Given the description of an element on the screen output the (x, y) to click on. 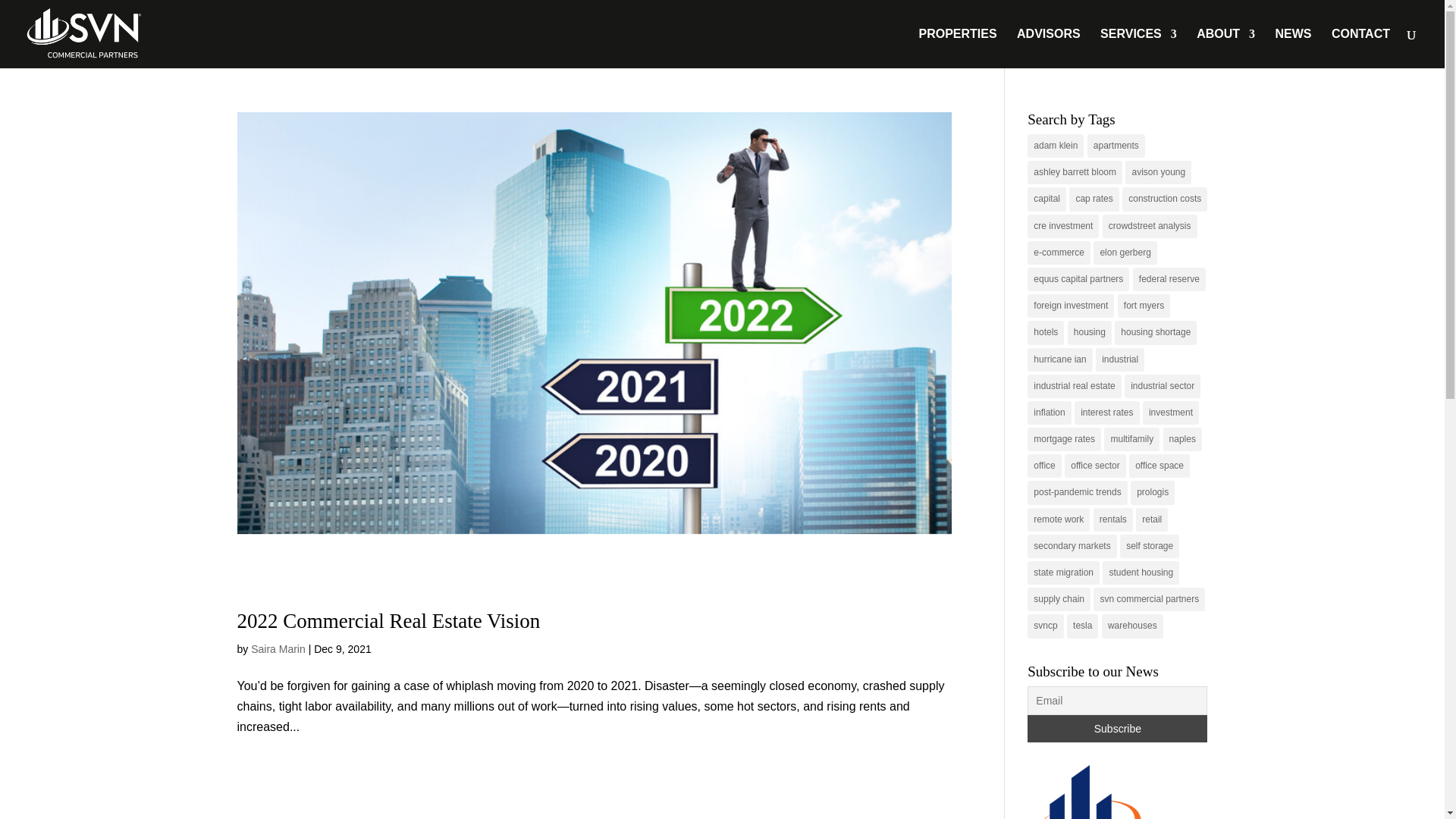
mortgage rates (1063, 439)
elon gerberg (1124, 252)
housing shortage (1155, 332)
PROPERTIES (956, 47)
2022 Commercial Real Estate Vision (387, 620)
NEWS (1293, 47)
interest rates (1106, 413)
construction costs (1164, 198)
federal reserve (1168, 279)
housing (1089, 332)
Saira Marin (277, 648)
Posts by Saira Marin (277, 648)
e-commerce (1058, 252)
industrial sector (1161, 386)
CONTACT (1361, 47)
